Given the description of an element on the screen output the (x, y) to click on. 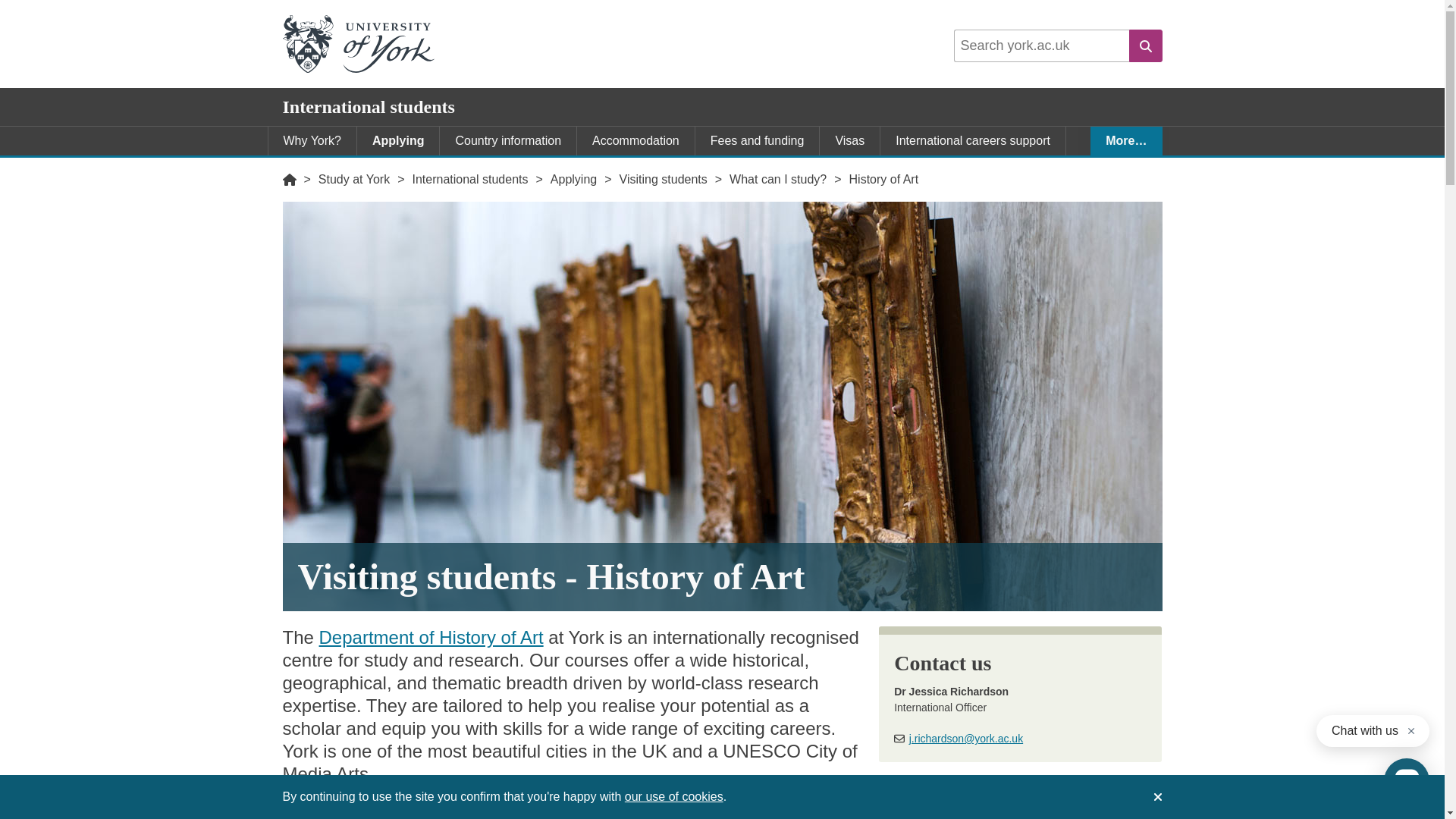
Country information (507, 140)
Home (288, 178)
Home (288, 179)
Dismiss this notification (1156, 796)
Why York? (311, 140)
Meet us (420, 169)
International students (368, 107)
Parents Hub (992, 169)
Applying (397, 140)
Fees and funding (757, 140)
Counsellor Hub (886, 169)
Visas (849, 140)
Meet our students (521, 169)
Offer holders (635, 169)
Accommodation (635, 140)
